Given the description of an element on the screen output the (x, y) to click on. 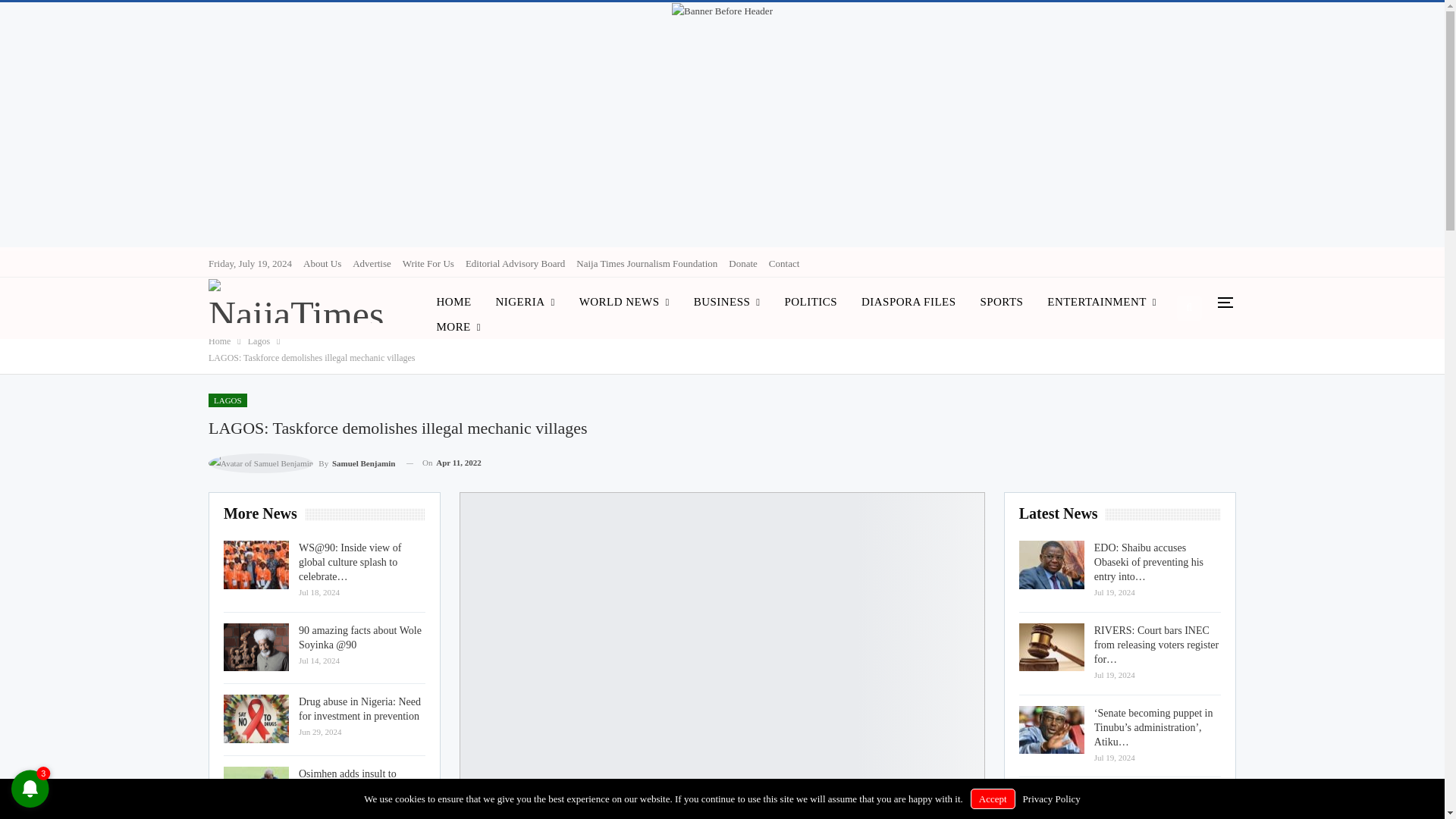
Browse Author Articles (301, 462)
